Given the description of an element on the screen output the (x, y) to click on. 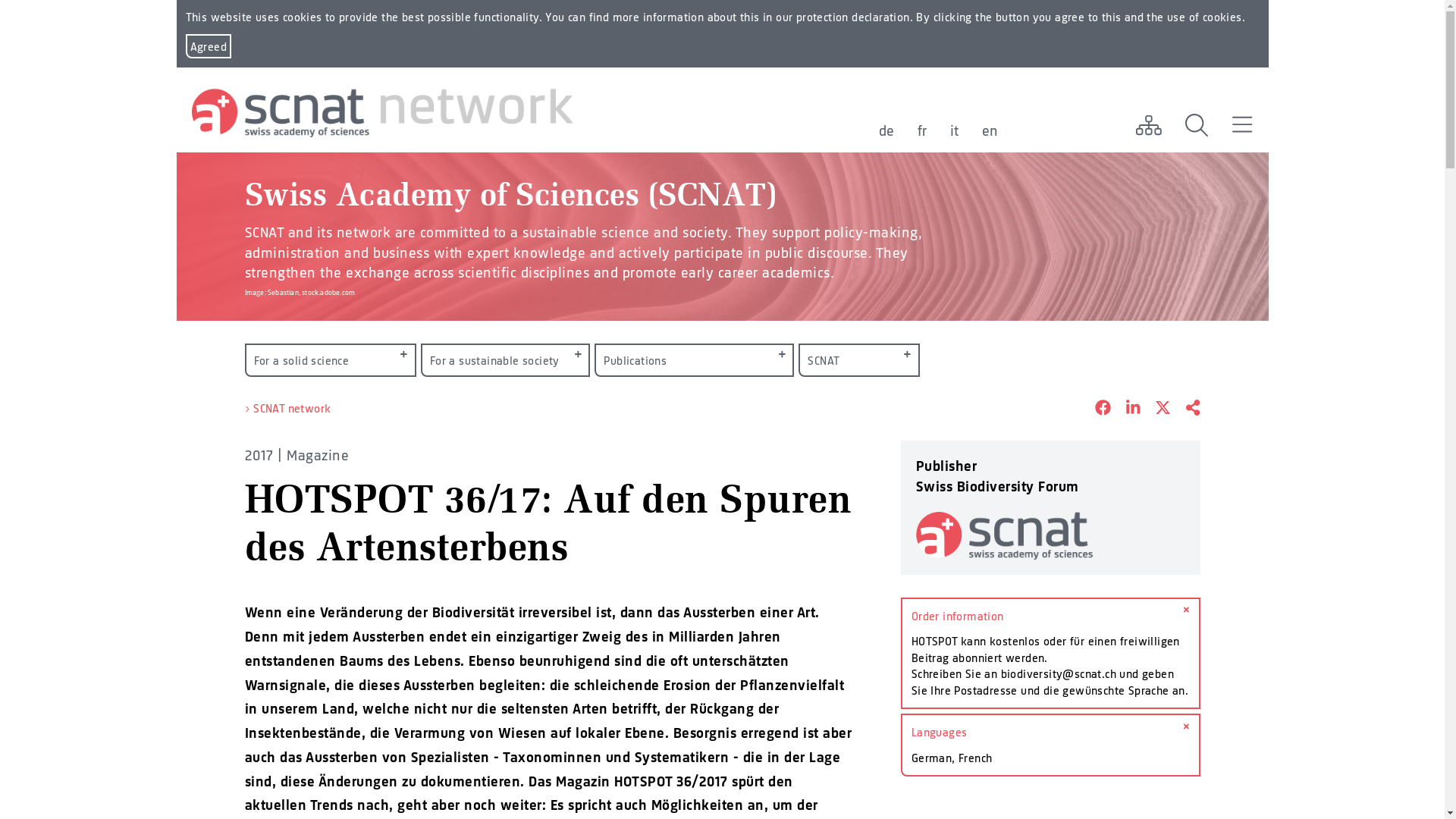
SCNAT Element type: text (858, 360)
Publisher
Swiss Biodiversity Forum Element type: text (1050, 507)
protection declaration Element type: text (853, 16)
fr Element type: text (922, 130)
Share on Facebook Element type: hover (1094, 408)
Languages Element type: text (1050, 732)
Swiss Academy of Sciences (SCNAT) Element type: text (510, 199)
Search Element type: hover (1196, 124)
For a solid science Element type: text (329, 360)
Share on X Element type: hover (1154, 408)
Menu Element type: hover (1241, 124)
SCNAT network Element type: text (291, 408)
Agreed Element type: text (207, 46)
Share on LinkedIn Element type: hover (1124, 408)
it Element type: text (953, 130)
en Element type: text (989, 130)
Publications Element type: text (694, 360)
Share as short link Element type: hover (1184, 408)
Order information Element type: text (1050, 616)
For a sustainable society Element type: text (505, 360)
de Element type: text (886, 130)
Network Element type: hover (1147, 124)
